Given the description of an element on the screen output the (x, y) to click on. 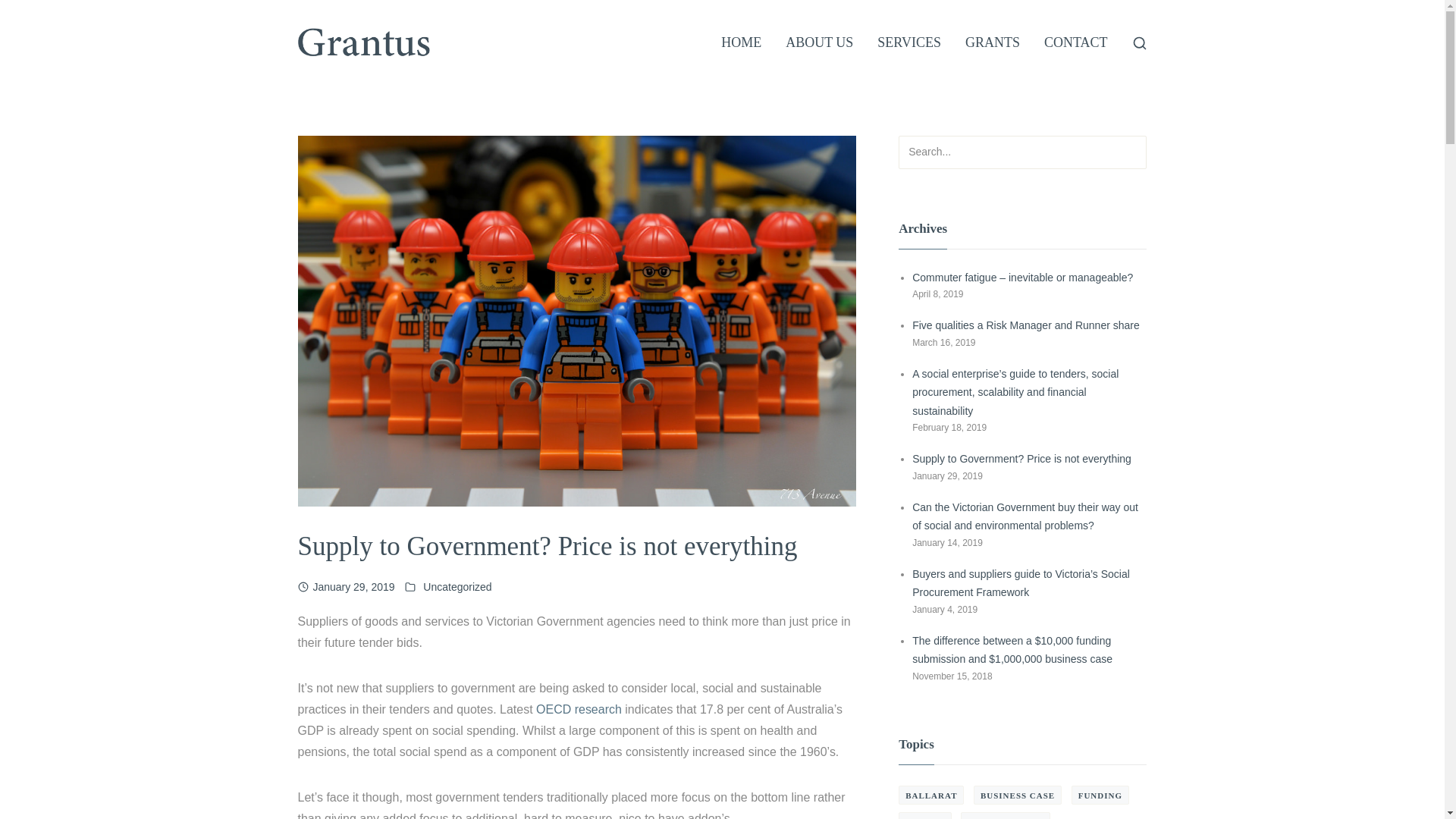
Five qualities a Risk Manager and Runner share Element type: text (1025, 325)
FUNDING Element type: text (1100, 794)
ABOUT US Element type: text (819, 42)
BUSINESS CASE Element type: text (1017, 794)
Uncategorized Element type: text (457, 586)
GRANTS Element type: text (992, 42)
BALLARAT Element type: text (930, 794)
HOME Element type: text (741, 42)
OECD research Element type: text (578, 708)
SERVICES Element type: text (909, 42)
Supply to Government? Price is not everything Element type: text (1021, 458)
CONTACT Element type: text (1075, 42)
